Given the description of an element on the screen output the (x, y) to click on. 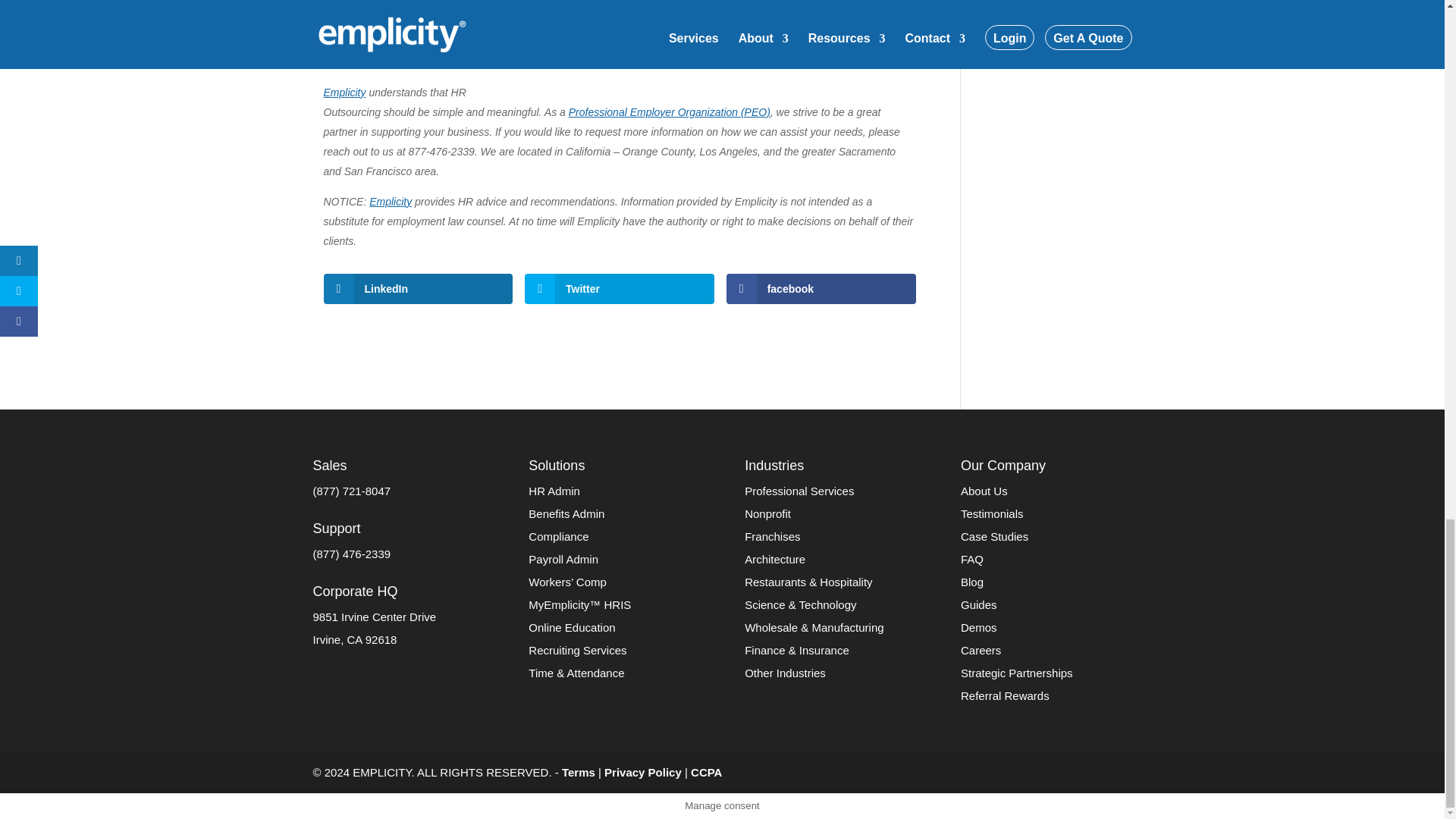
Emplicity (390, 201)
Twitter (619, 288)
great way to engage and retain (686, 61)
Emplicity (344, 92)
facebook (820, 288)
LinkedIn (417, 288)
